Given the description of an element on the screen output the (x, y) to click on. 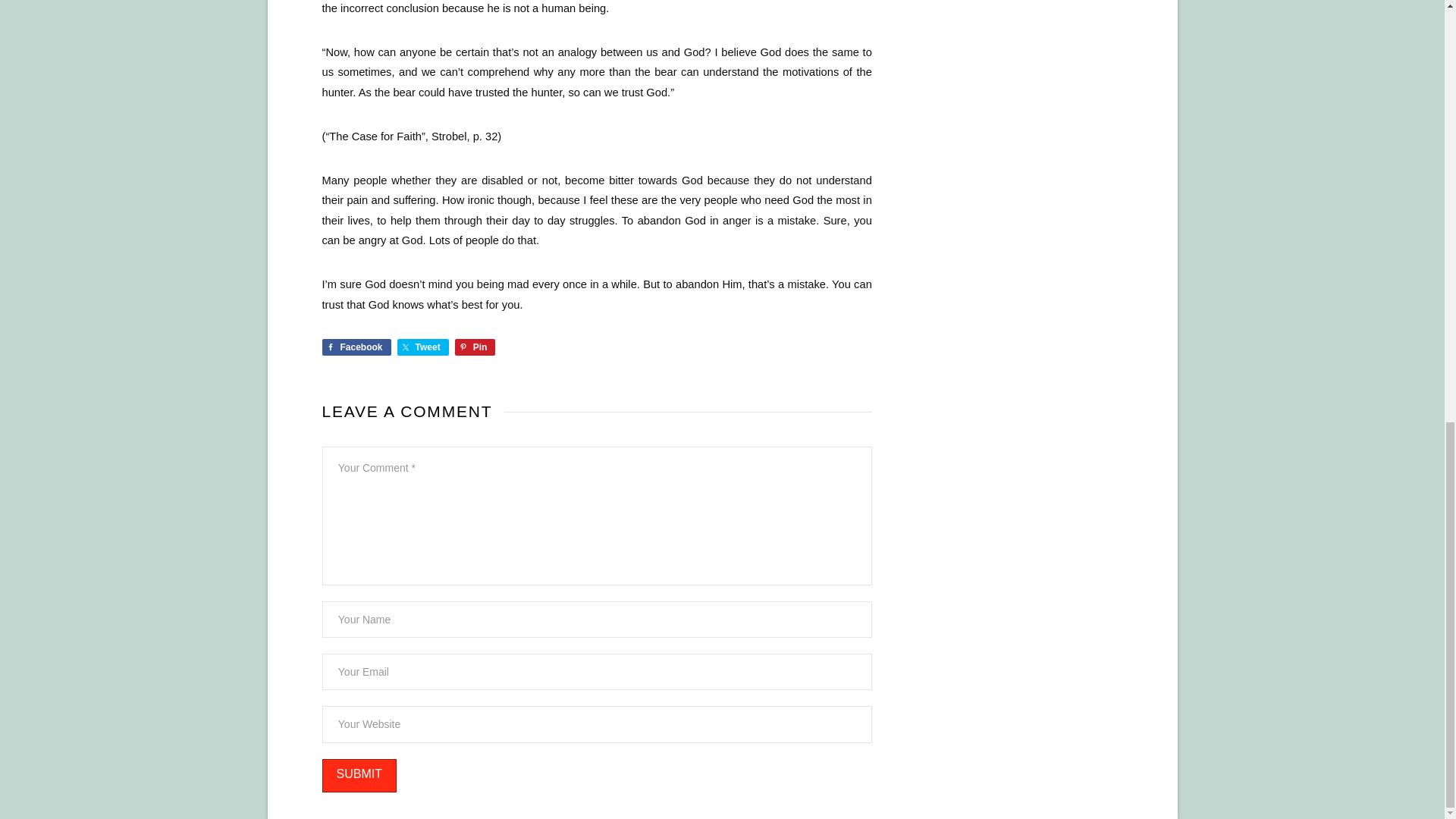
Share on Pinterest (475, 347)
Share on Facebook (355, 347)
Submit (358, 776)
Share on Twitter (422, 347)
